Given the description of an element on the screen output the (x, y) to click on. 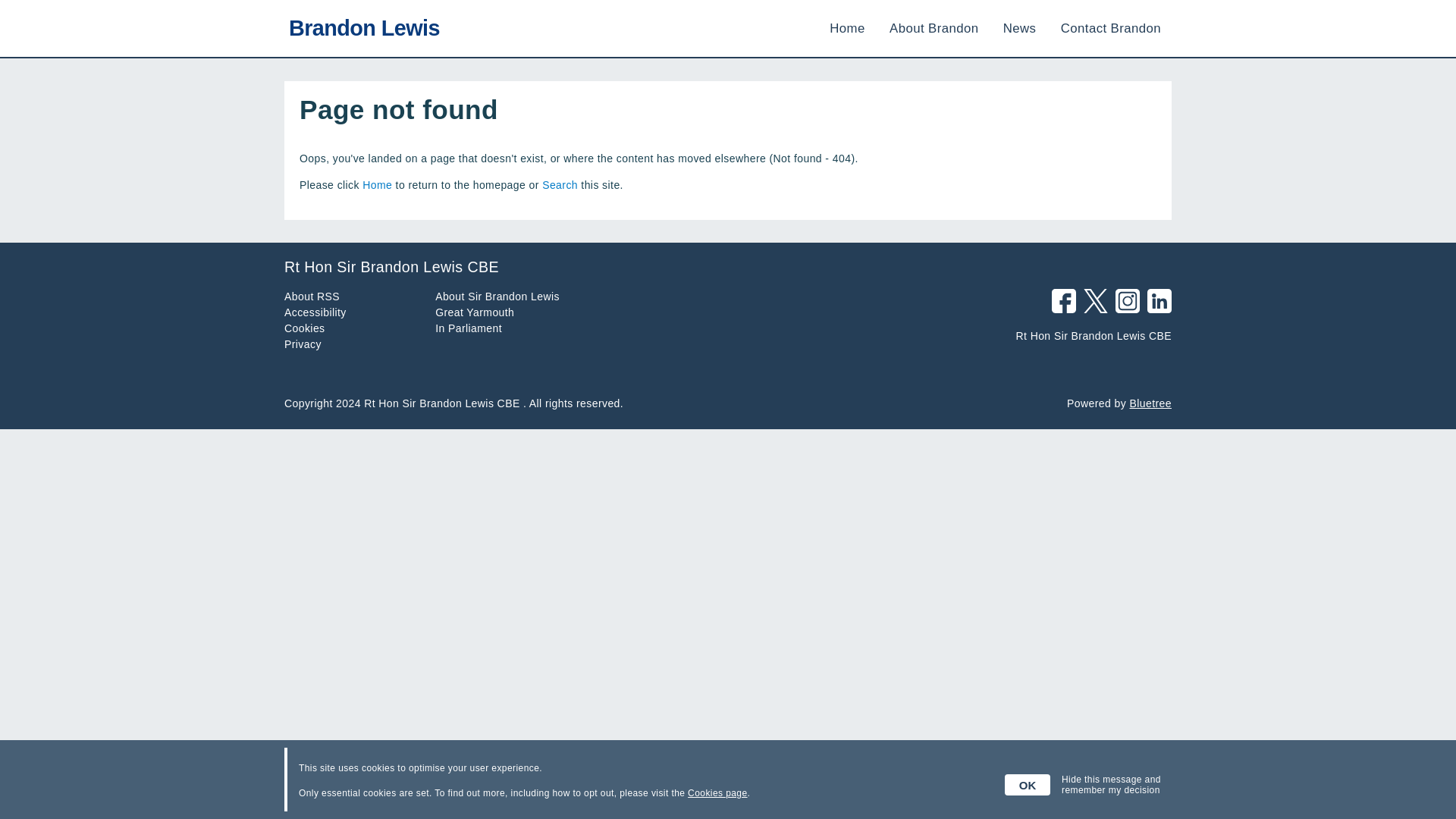
Bluetree (1150, 403)
About Sir Brandon Lewis (497, 296)
About RSS (311, 296)
Brandon Lewis (361, 27)
Search (559, 184)
Home (376, 184)
In Parliament (468, 328)
Privacy (302, 344)
Home (846, 28)
Contact Brandon (1110, 28)
